Given the description of an element on the screen output the (x, y) to click on. 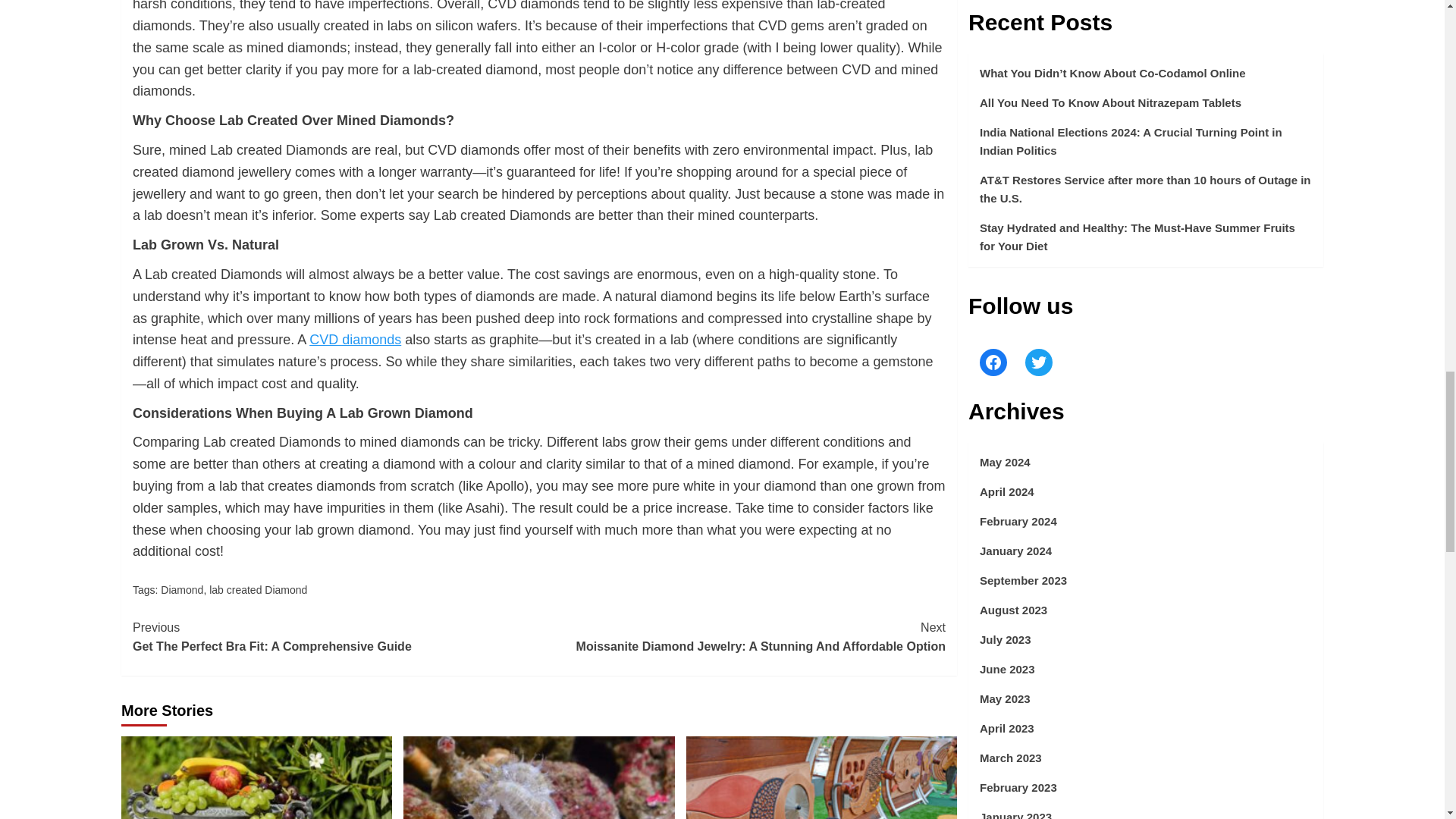
CVD diamonds (354, 339)
lab created Diamond (258, 589)
Diamond (335, 637)
